Given the description of an element on the screen output the (x, y) to click on. 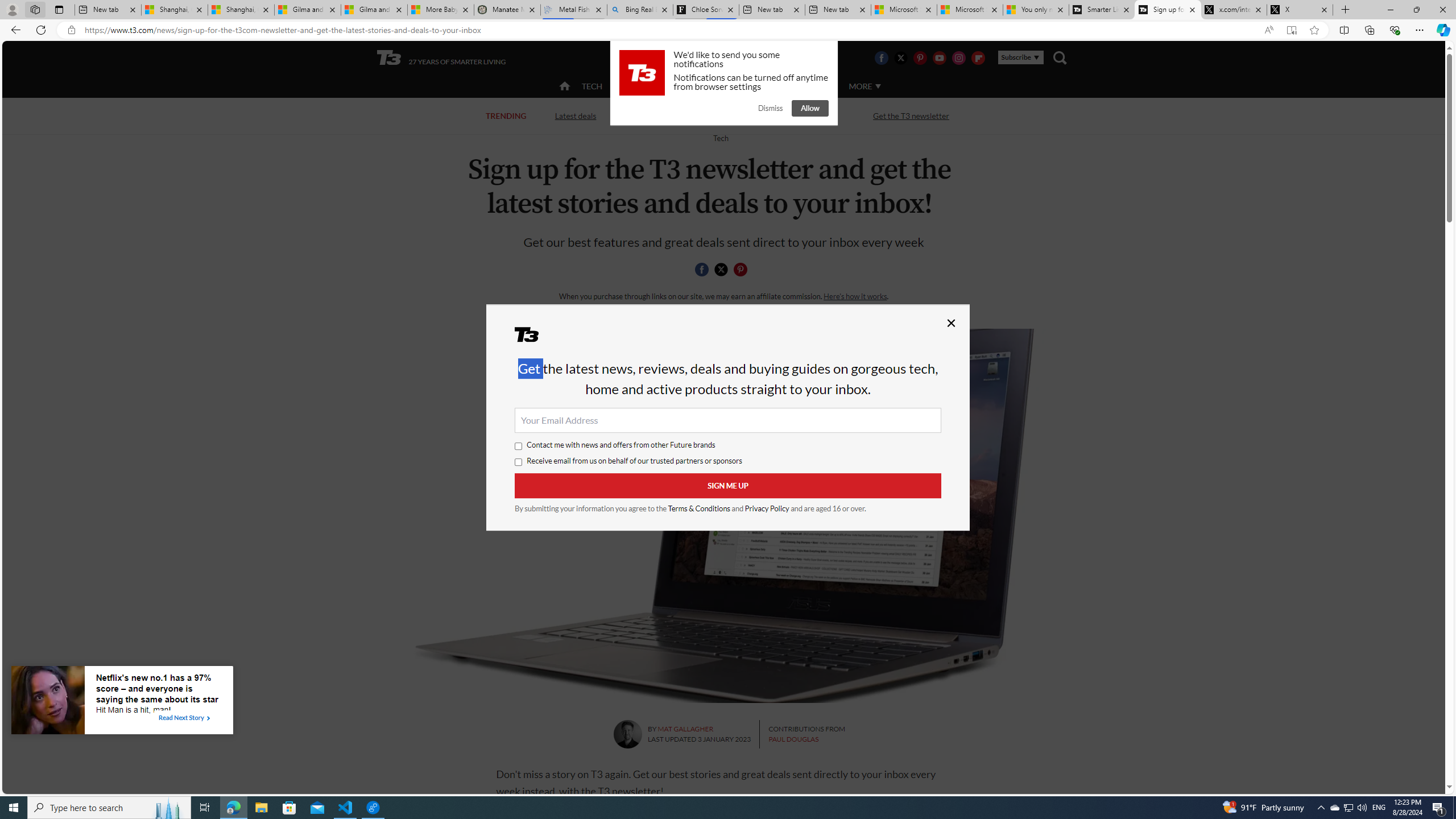
ACTIVE (638, 86)
Allow (810, 107)
Class: svg-arrow-down (877, 86)
Class: navigation__item (563, 86)
Image for Taboola Advertising Unit (47, 702)
Chloe Sorvino (706, 9)
Terms & Conditions (699, 508)
Smarter Living | T3 (1102, 9)
